Given the description of an element on the screen output the (x, y) to click on. 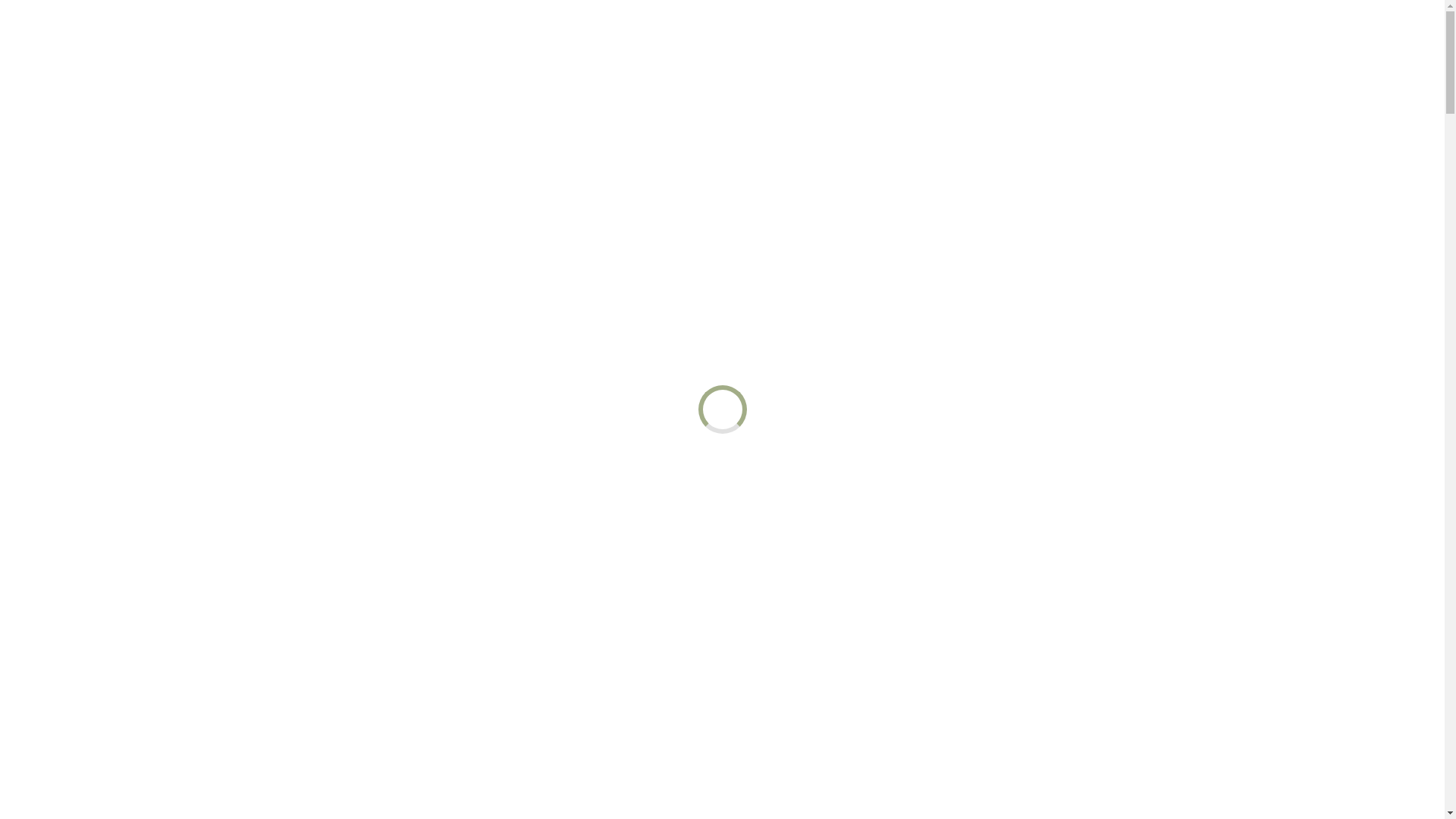
Qui suis-je ? Element type: text (975, 36)
Iridologie Element type: text (768, 36)
Accueil Element type: text (574, 36)
Acupuncture Element type: text (668, 36)
